Given the description of an element on the screen output the (x, y) to click on. 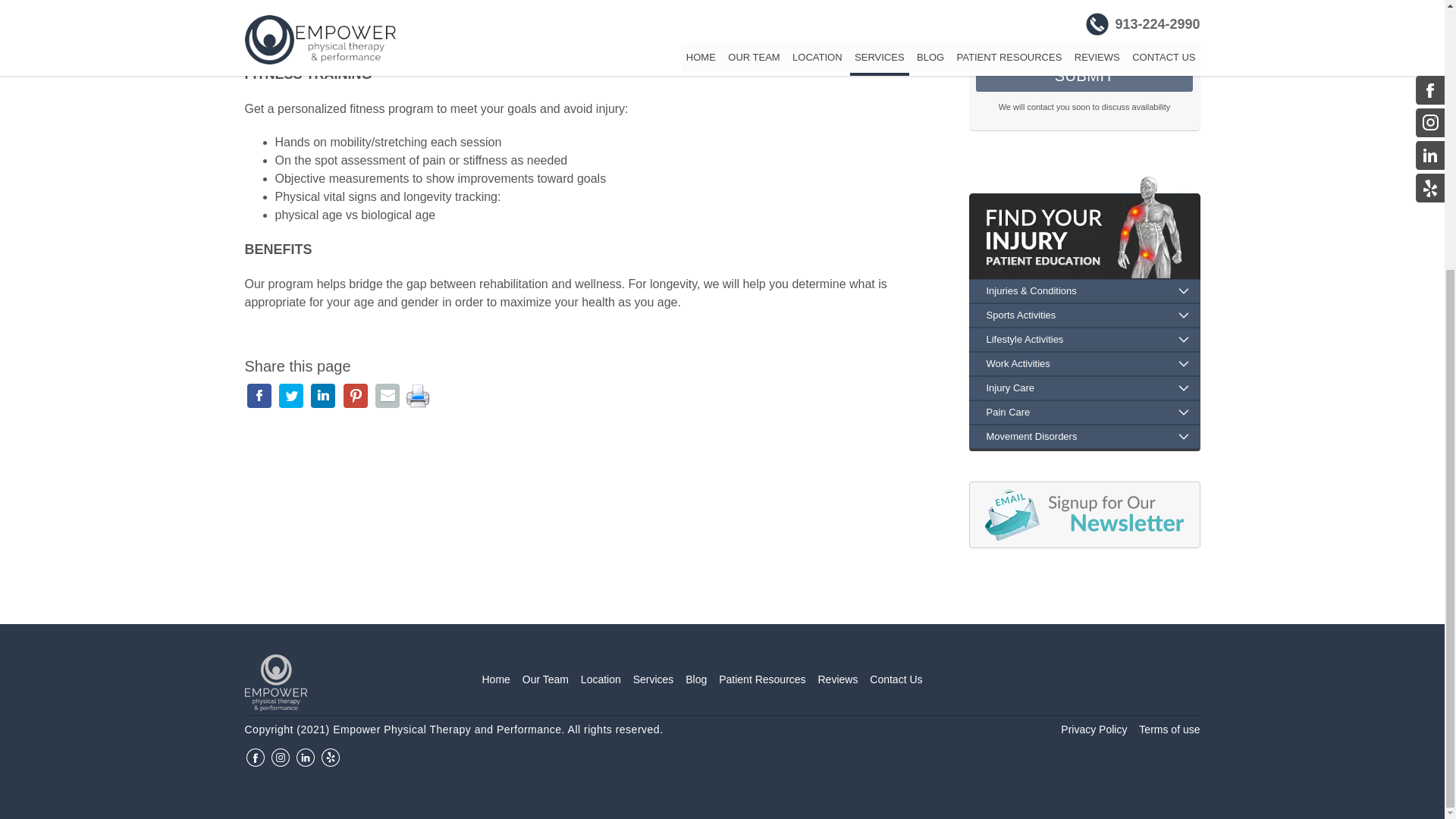
Sports Activities (1084, 314)
Print page content (417, 395)
Lifestyle Activities (1084, 339)
Submit (1084, 76)
Work Activities (1084, 363)
Phone: must be 10 digits long (1084, 38)
Email (1084, 8)
